Given the description of an element on the screen output the (x, y) to click on. 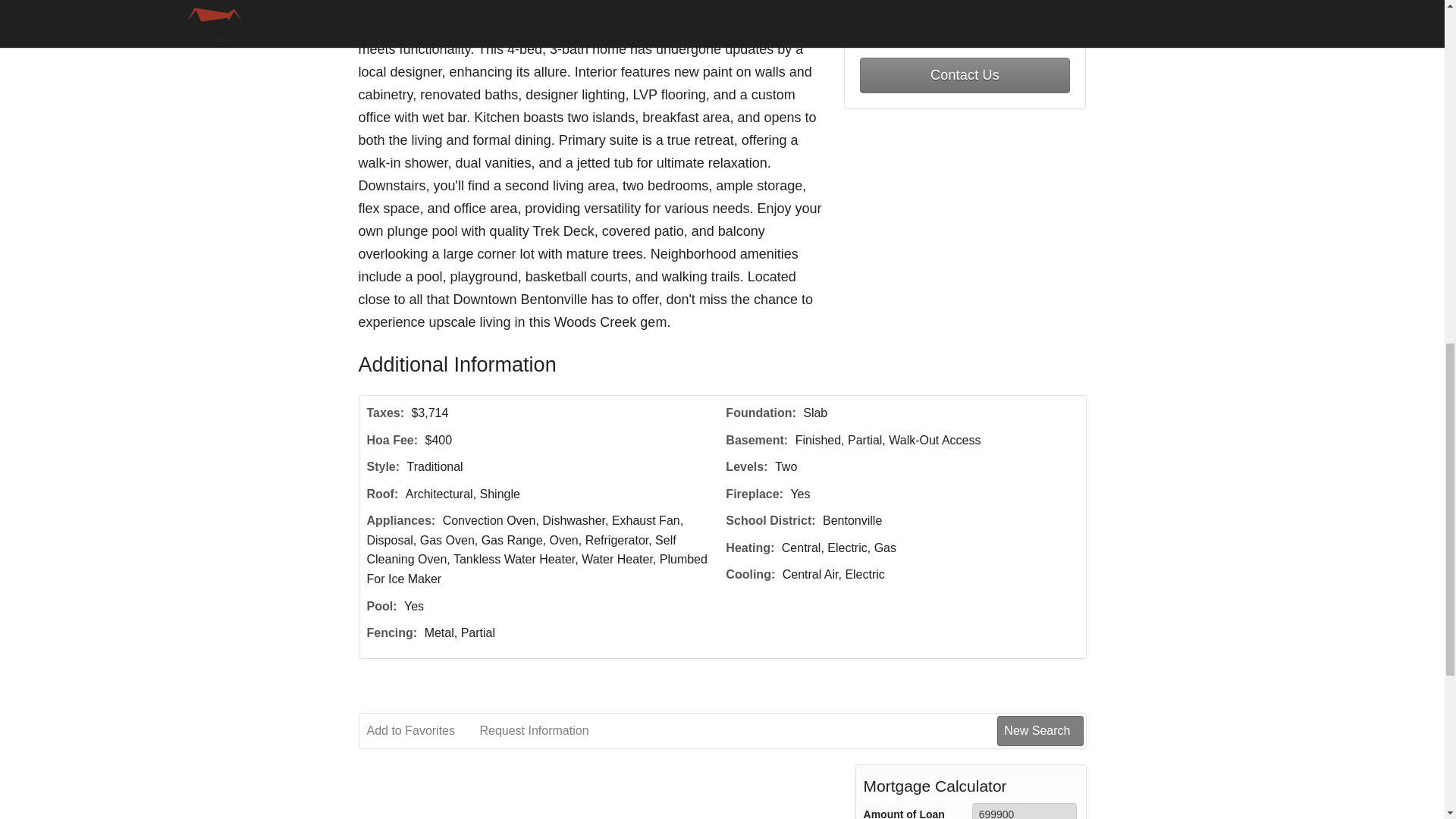
699900 (1024, 811)
